Given the description of an element on the screen output the (x, y) to click on. 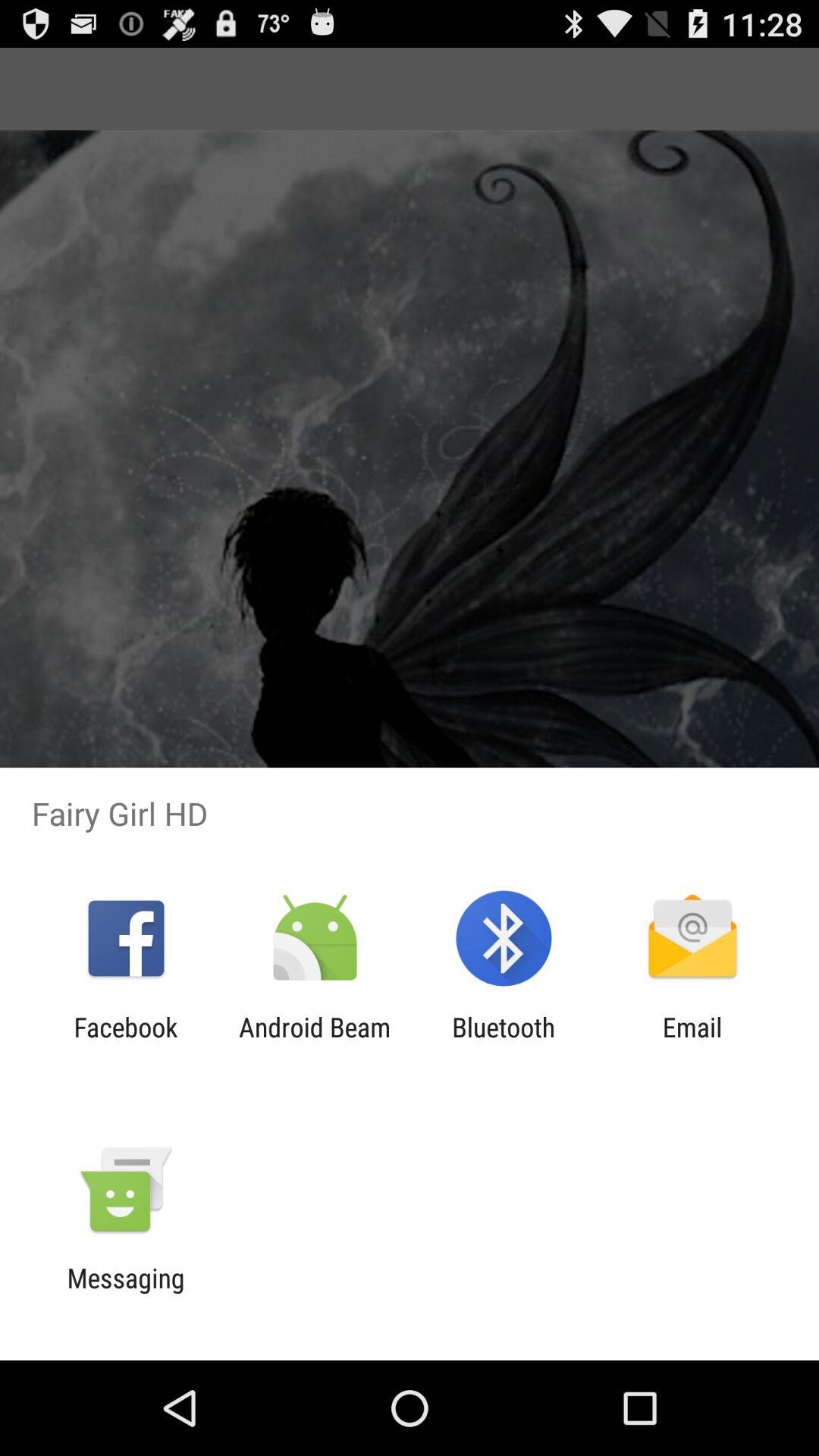
turn off the icon to the right of android beam (503, 1042)
